Given the description of an element on the screen output the (x, y) to click on. 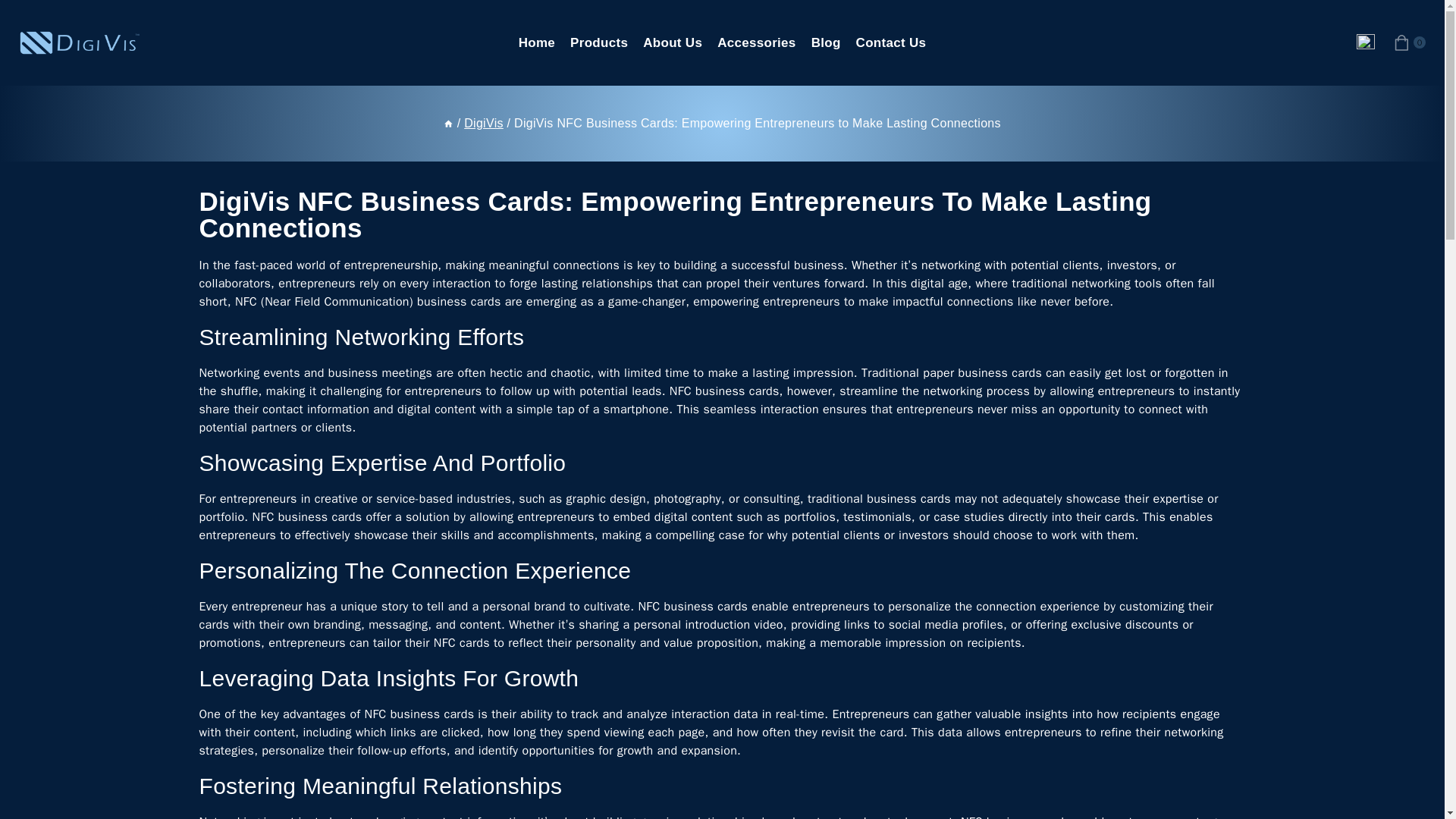
DigiVis (483, 123)
0 (1409, 42)
Contact Us (891, 42)
Products (598, 42)
Accessories (756, 42)
About Us (672, 42)
